Given the description of an element on the screen output the (x, y) to click on. 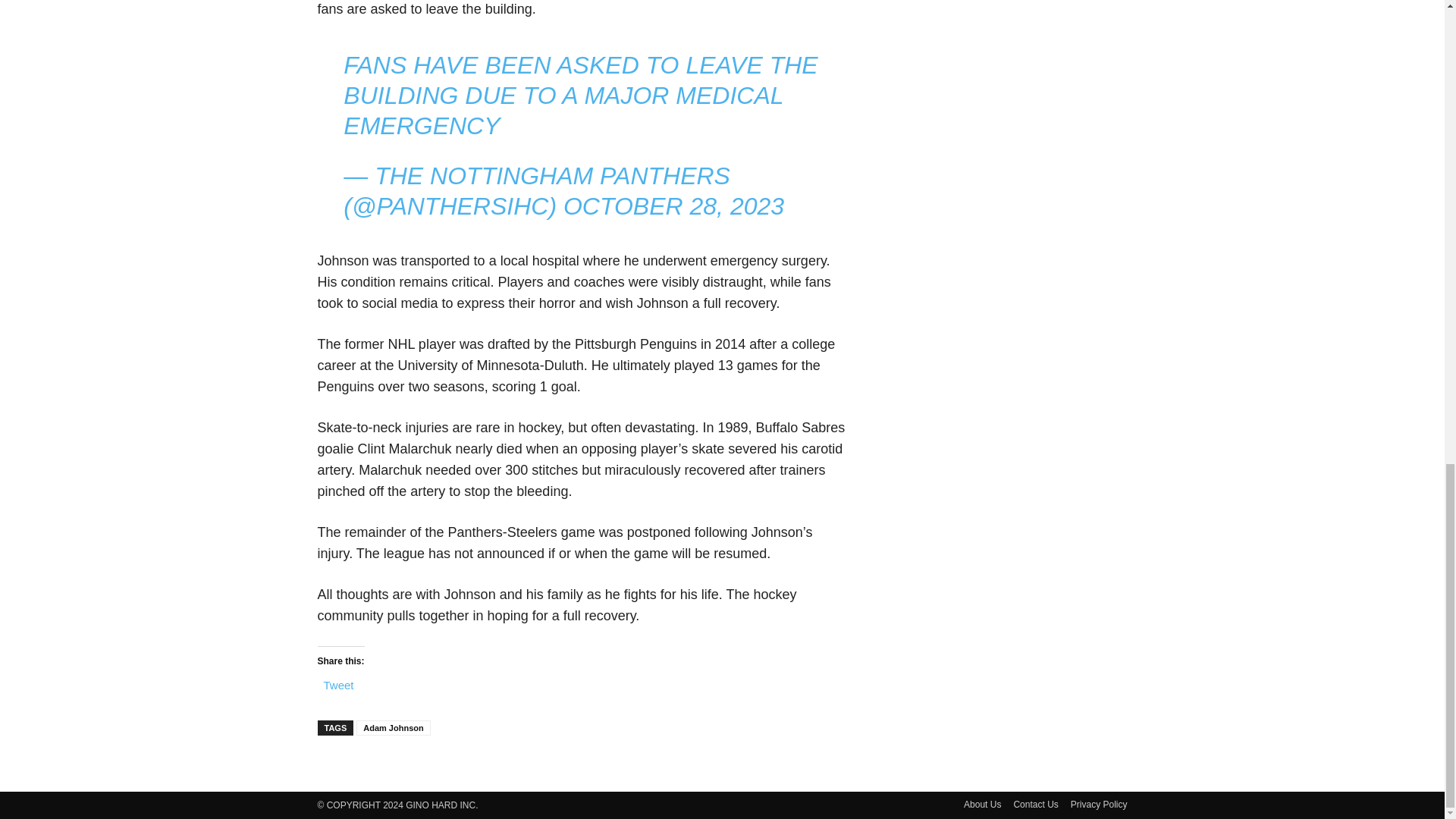
Adam Johnson (392, 727)
Tweet (338, 682)
OCTOBER 28, 2023 (673, 206)
